Given the description of an element on the screen output the (x, y) to click on. 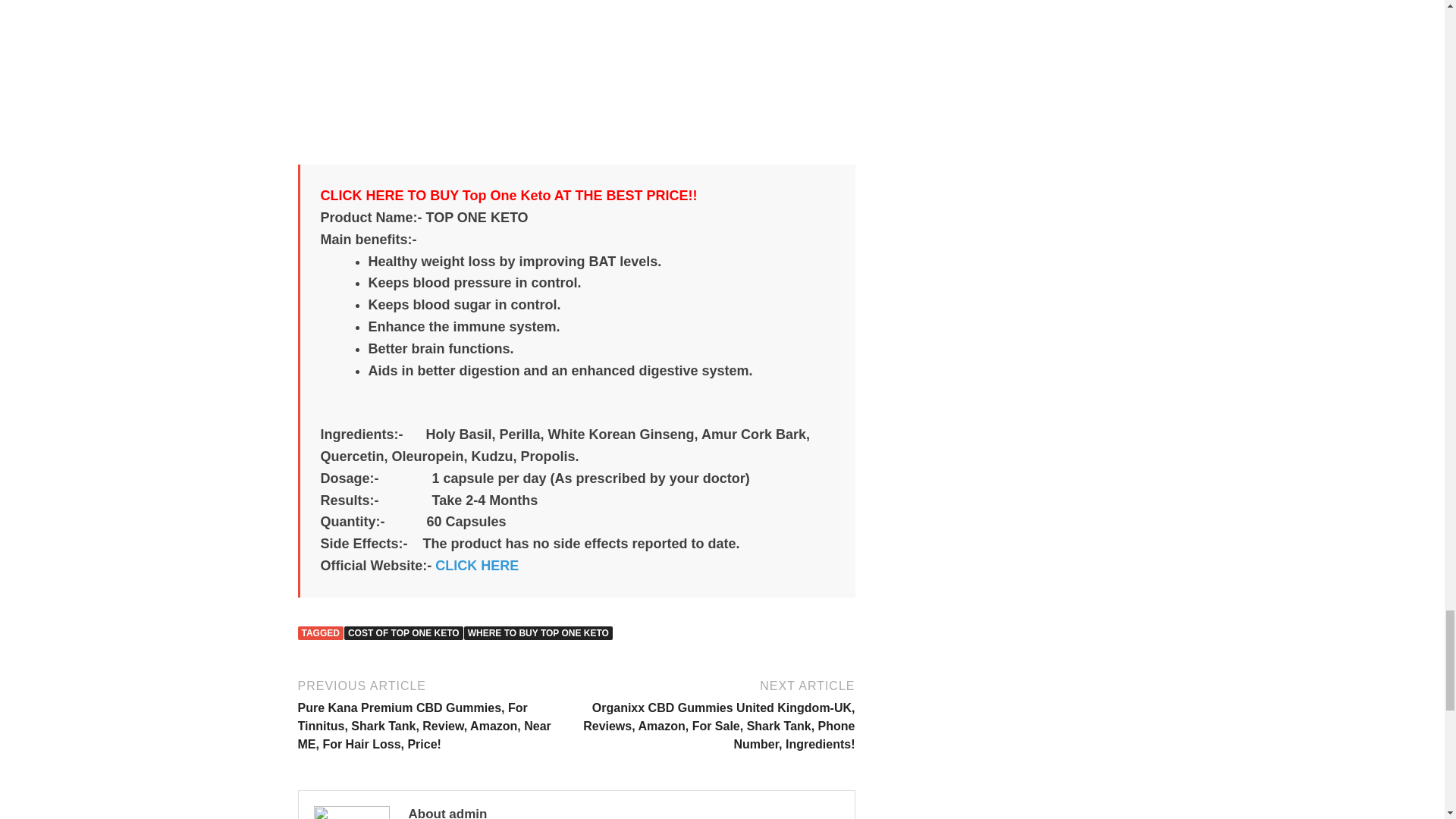
COST OF TOP ONE KETO (403, 632)
CLICK HERE TO BUY Top One Keto AT THE BEST PRICE!! (508, 195)
Top One Keto (575, 73)
WHERE TO BUY TOP ONE KETO (538, 632)
CLICK HERE (476, 565)
